Given the description of an element on the screen output the (x, y) to click on. 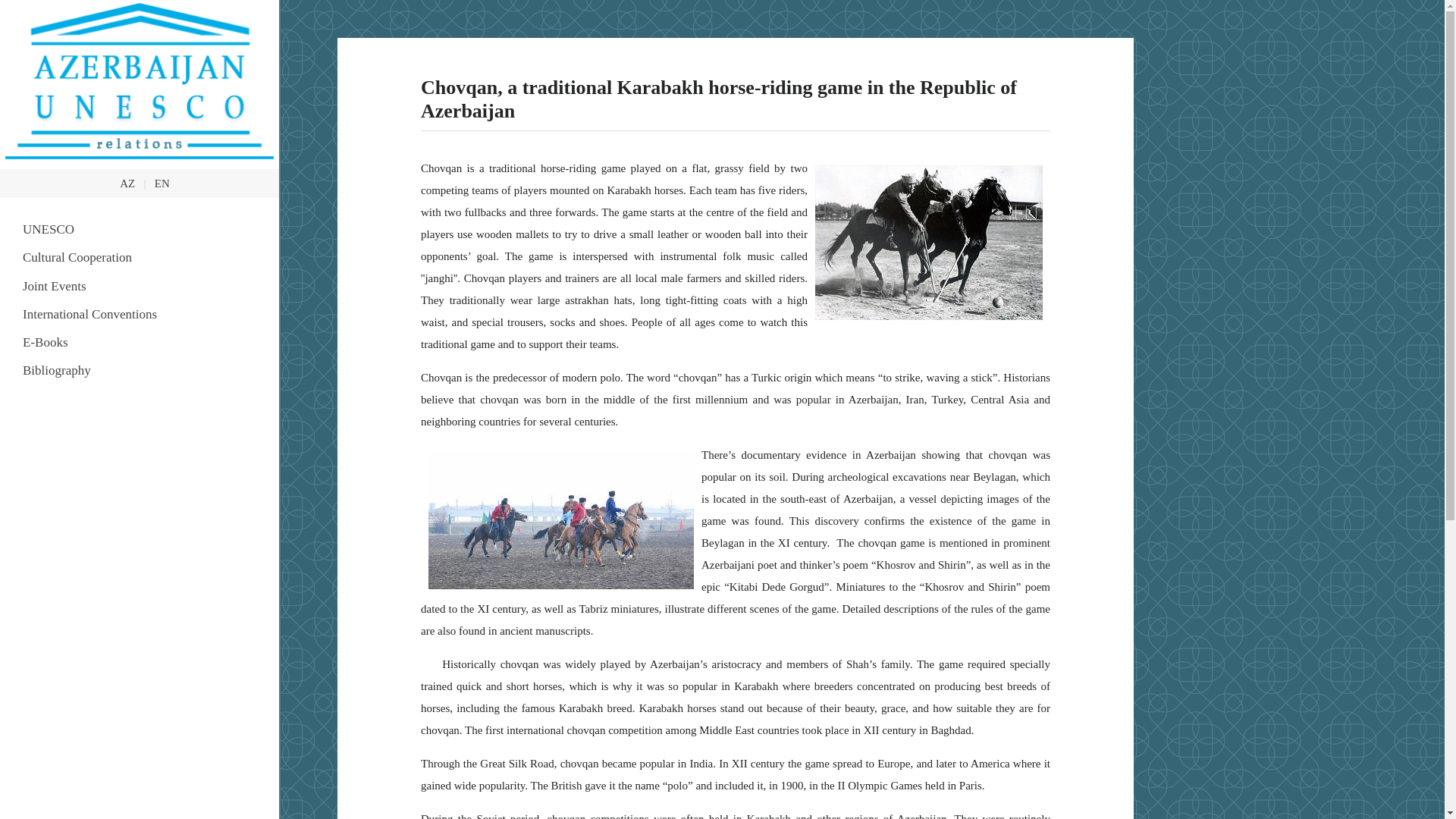
AZ (127, 183)
E-Books (139, 342)
Cultural Cooperation (139, 257)
UNESCO (139, 229)
EN (162, 183)
Joint Events (139, 285)
International Conventions (139, 314)
Bibliography (139, 370)
